Given the description of an element on the screen output the (x, y) to click on. 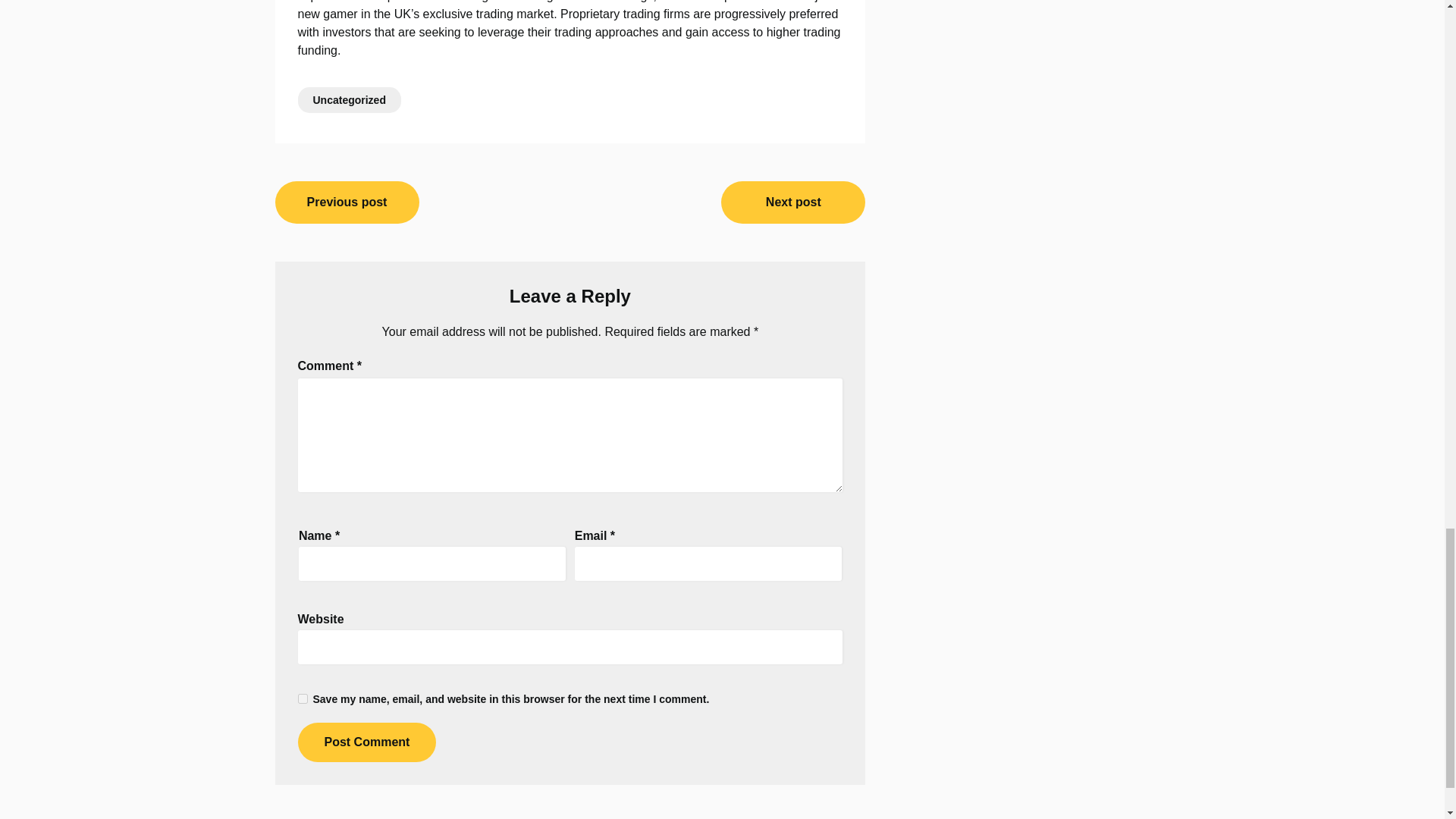
Previous post (347, 201)
yes (302, 698)
Post Comment (366, 742)
Uncategorized (348, 99)
Next post (792, 201)
Post Comment (366, 742)
